Given the description of an element on the screen output the (x, y) to click on. 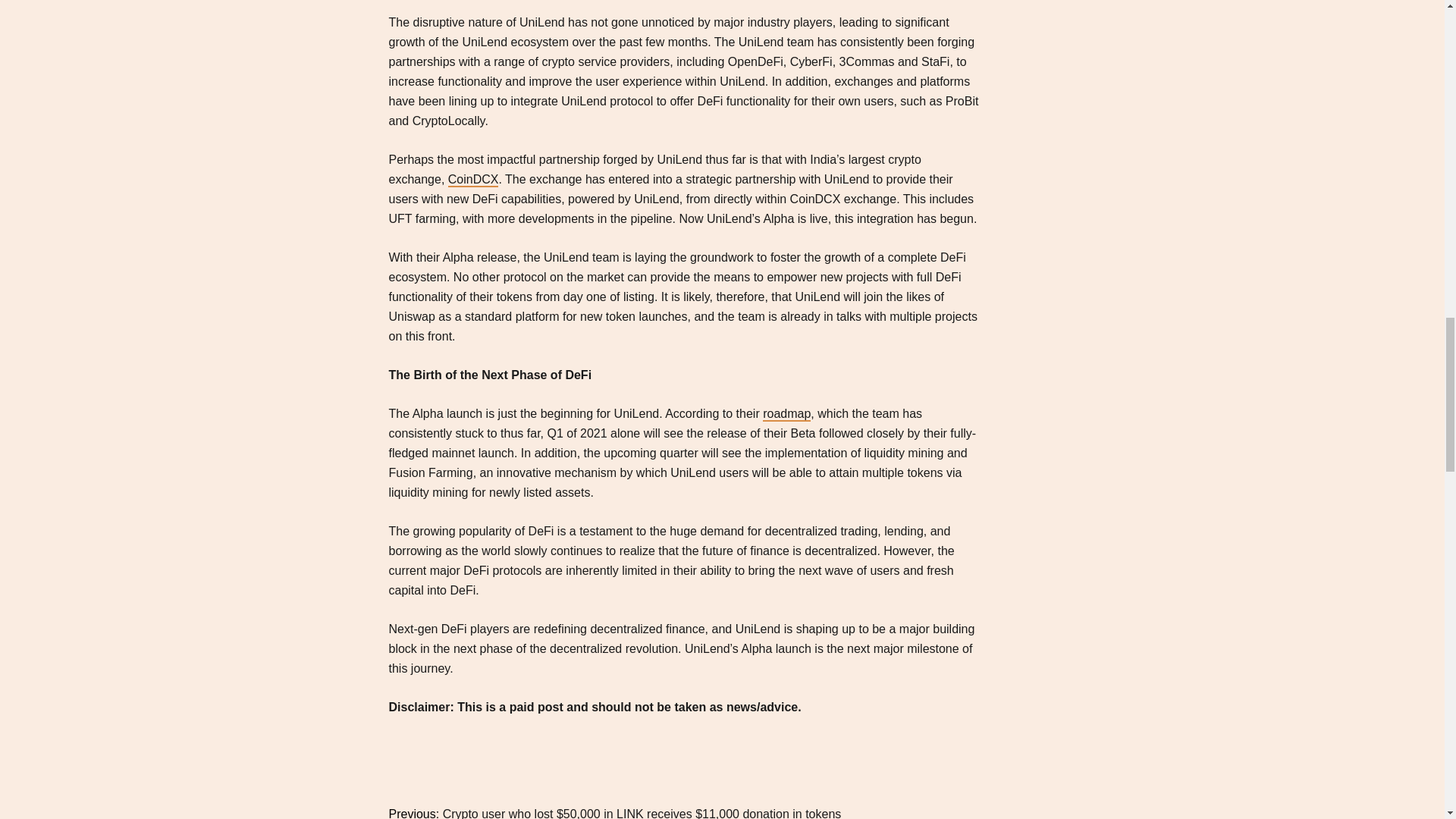
CoinDCX (473, 179)
